Given the description of an element on the screen output the (x, y) to click on. 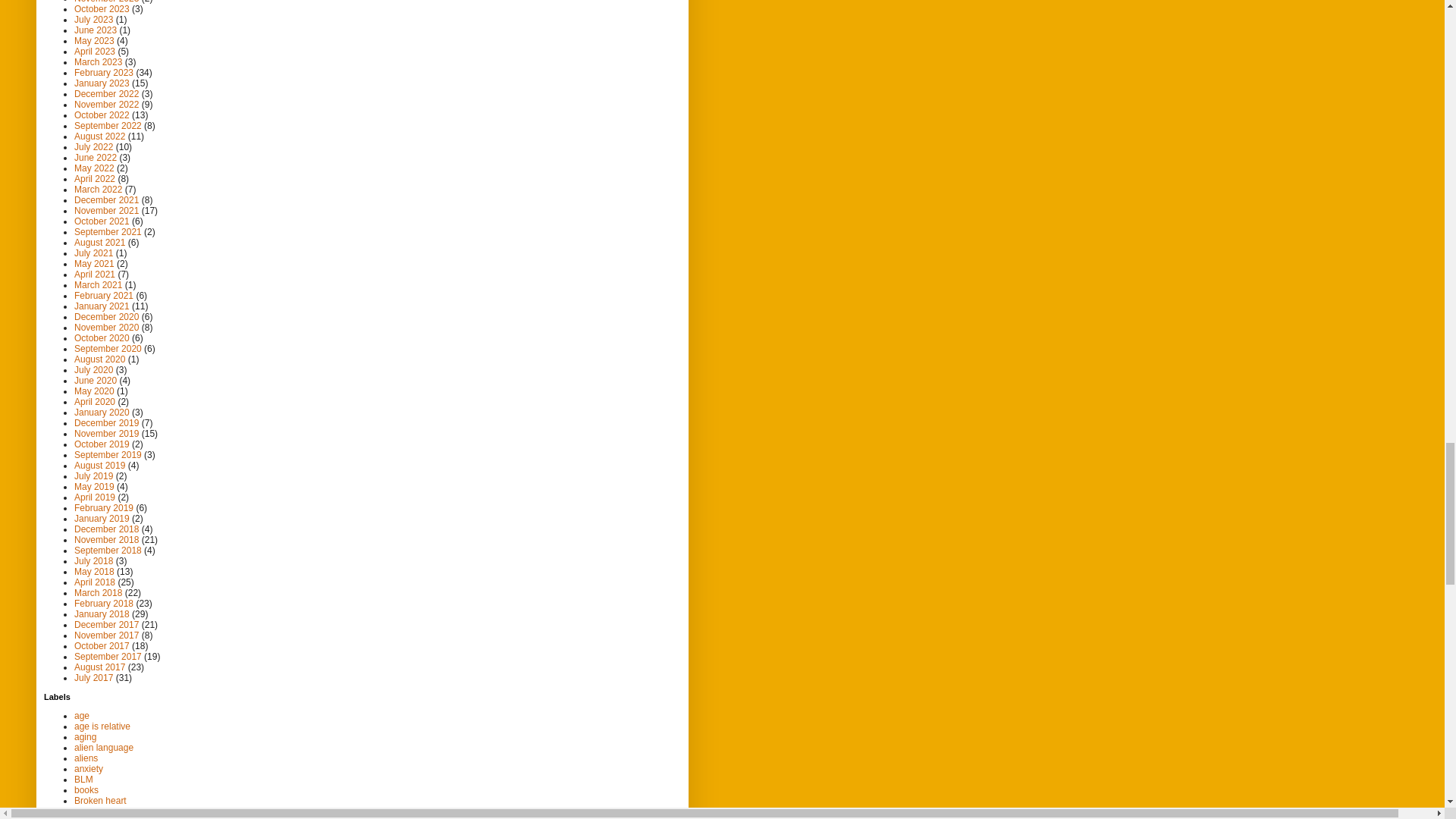
December 2022 (106, 93)
March 2023 (98, 61)
April 2022 (94, 178)
September 2022 (107, 125)
November 2023 (106, 2)
June 2023 (95, 30)
July 2023 (93, 19)
August 2022 (99, 136)
February 2023 (103, 72)
October 2022 (101, 114)
October 2023 (101, 9)
January 2023 (101, 82)
July 2022 (93, 146)
April 2023 (94, 50)
June 2022 (95, 157)
